Given the description of an element on the screen output the (x, y) to click on. 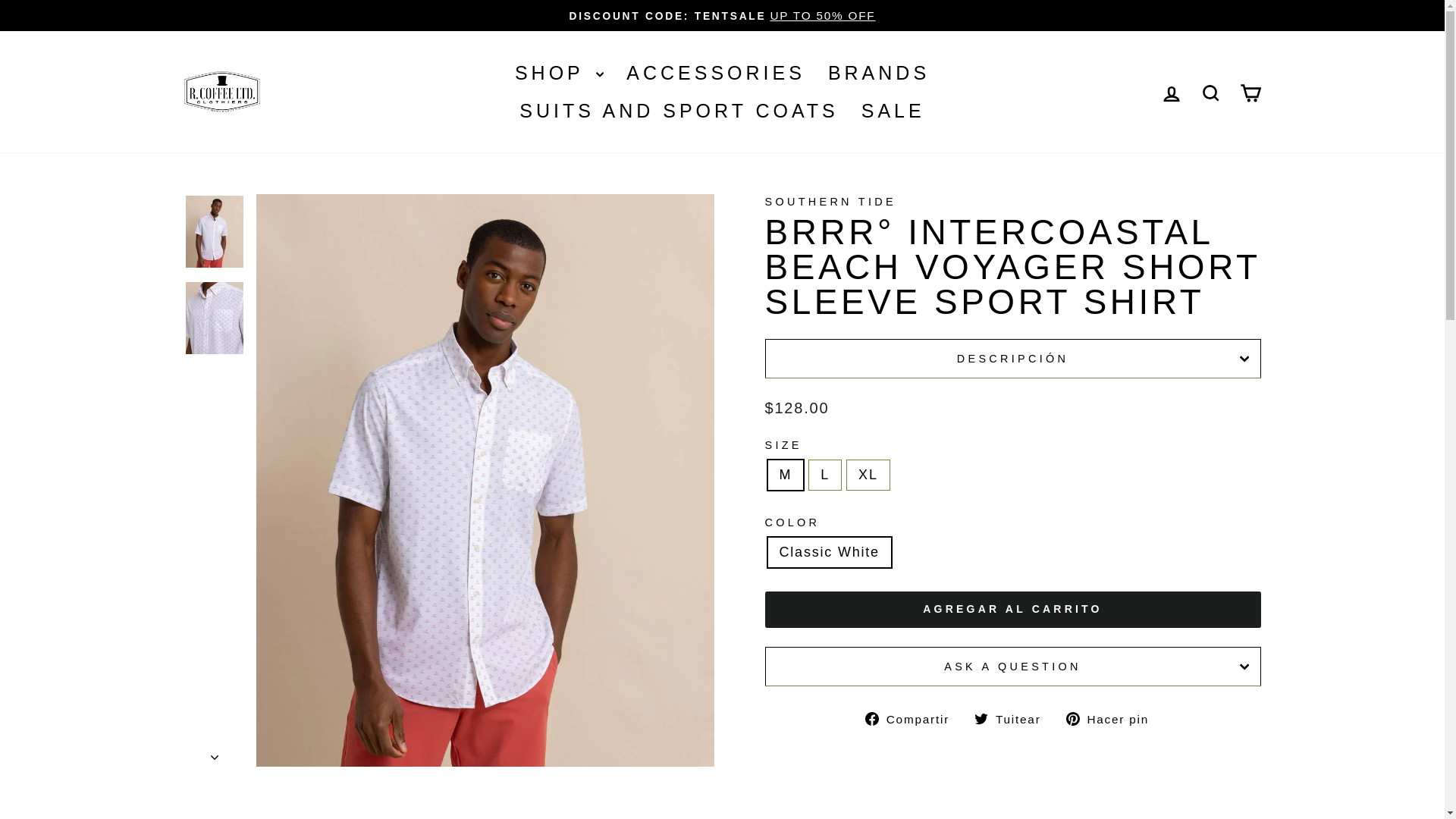
icon-chevron (214, 757)
ACCOUNT (1170, 93)
ICON-SEARCH (1210, 93)
Pinear en Pinterest (1112, 718)
Tuitear en Twitter (1012, 718)
twitter (981, 718)
Compartir en Facebook (912, 718)
